Given the description of an element on the screen output the (x, y) to click on. 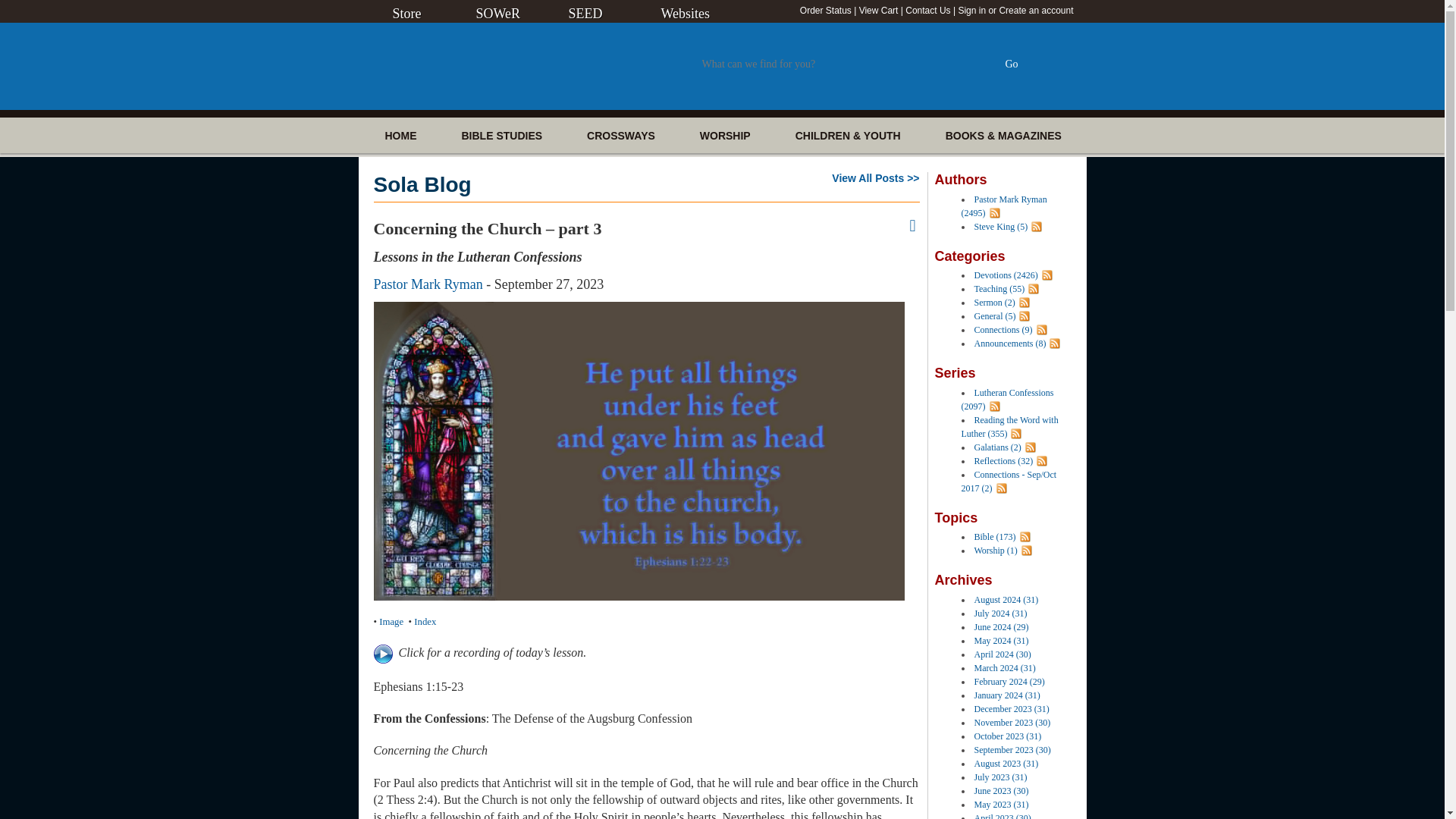
SOWeR (498, 13)
BIBLE STUDIES (501, 135)
Contact Us (927, 9)
SEED (585, 13)
HOME (399, 135)
Sign in or Create an account (1015, 9)
Order Status (825, 9)
Websites (685, 13)
View Cart (878, 9)
